Given the description of an element on the screen output the (x, y) to click on. 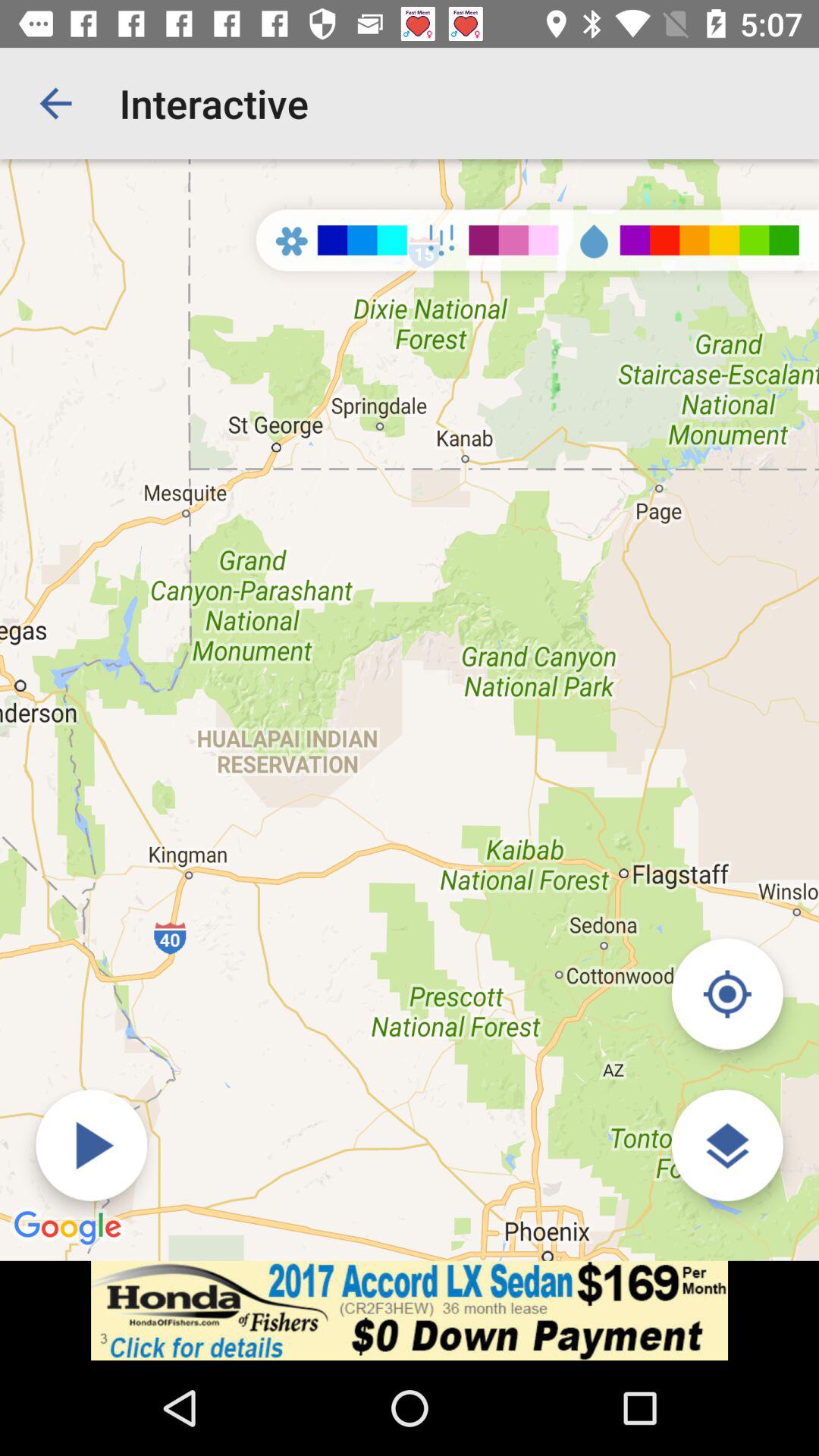
redirects you to offer page (409, 1310)
